Given the description of an element on the screen output the (x, y) to click on. 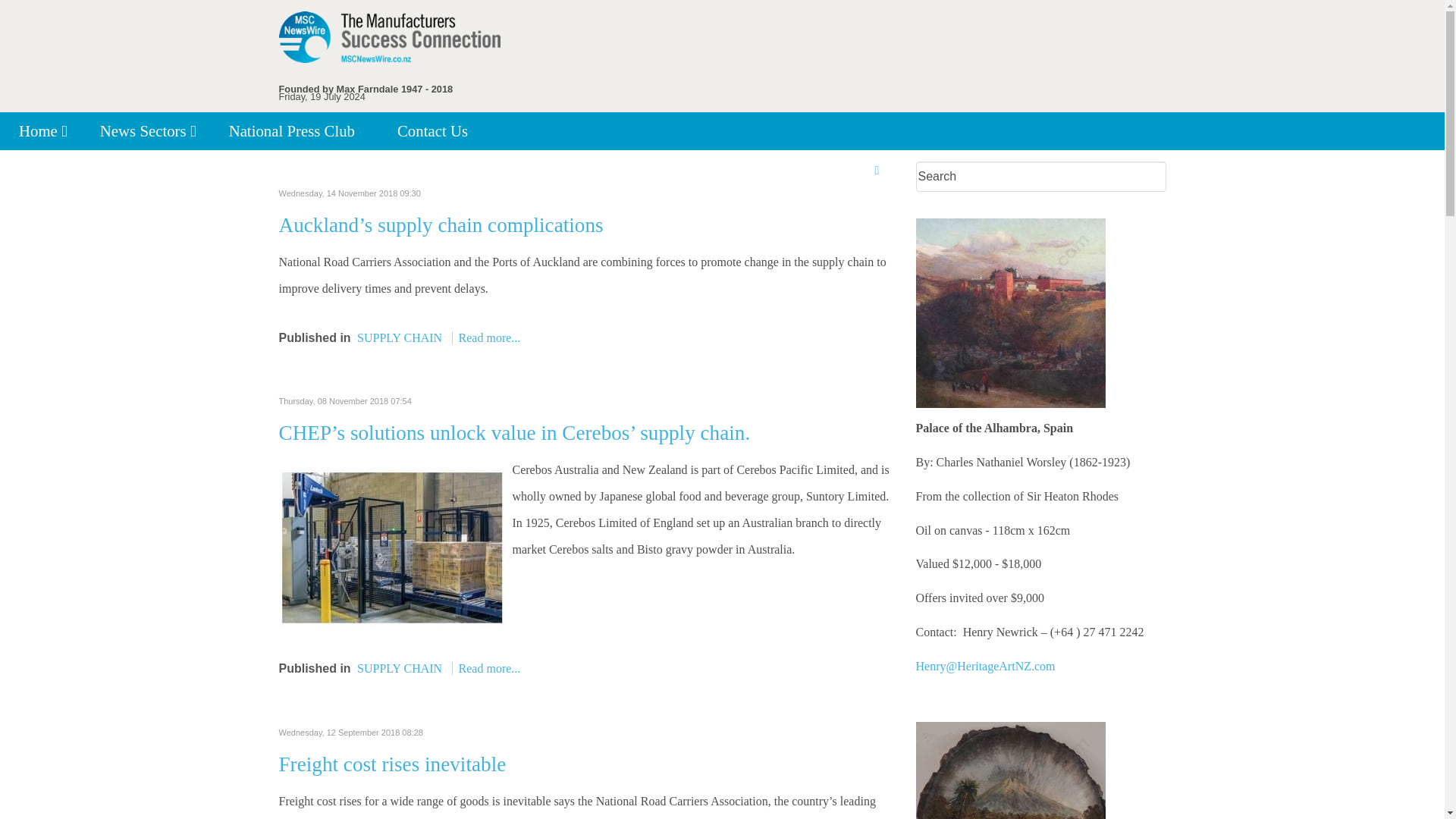
Subscribe to this RSS feed (880, 170)
Search (1040, 176)
News Sectors (145, 130)
Home (40, 130)
